Given the description of an element on the screen output the (x, y) to click on. 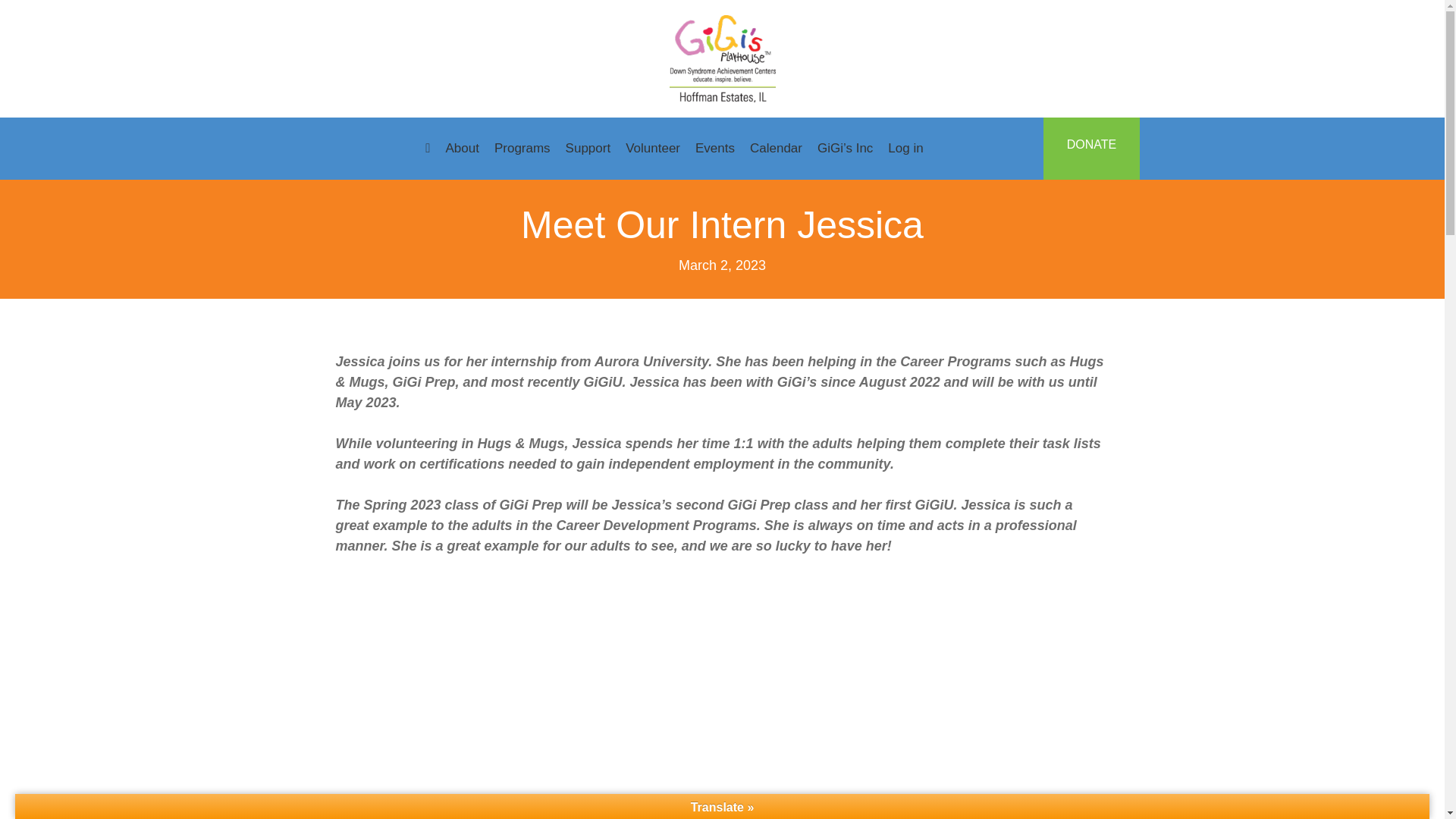
Programs (521, 148)
About (462, 148)
GiGi-location---Hoffman-Estates (721, 58)
Support (587, 148)
